Given the description of an element on the screen output the (x, y) to click on. 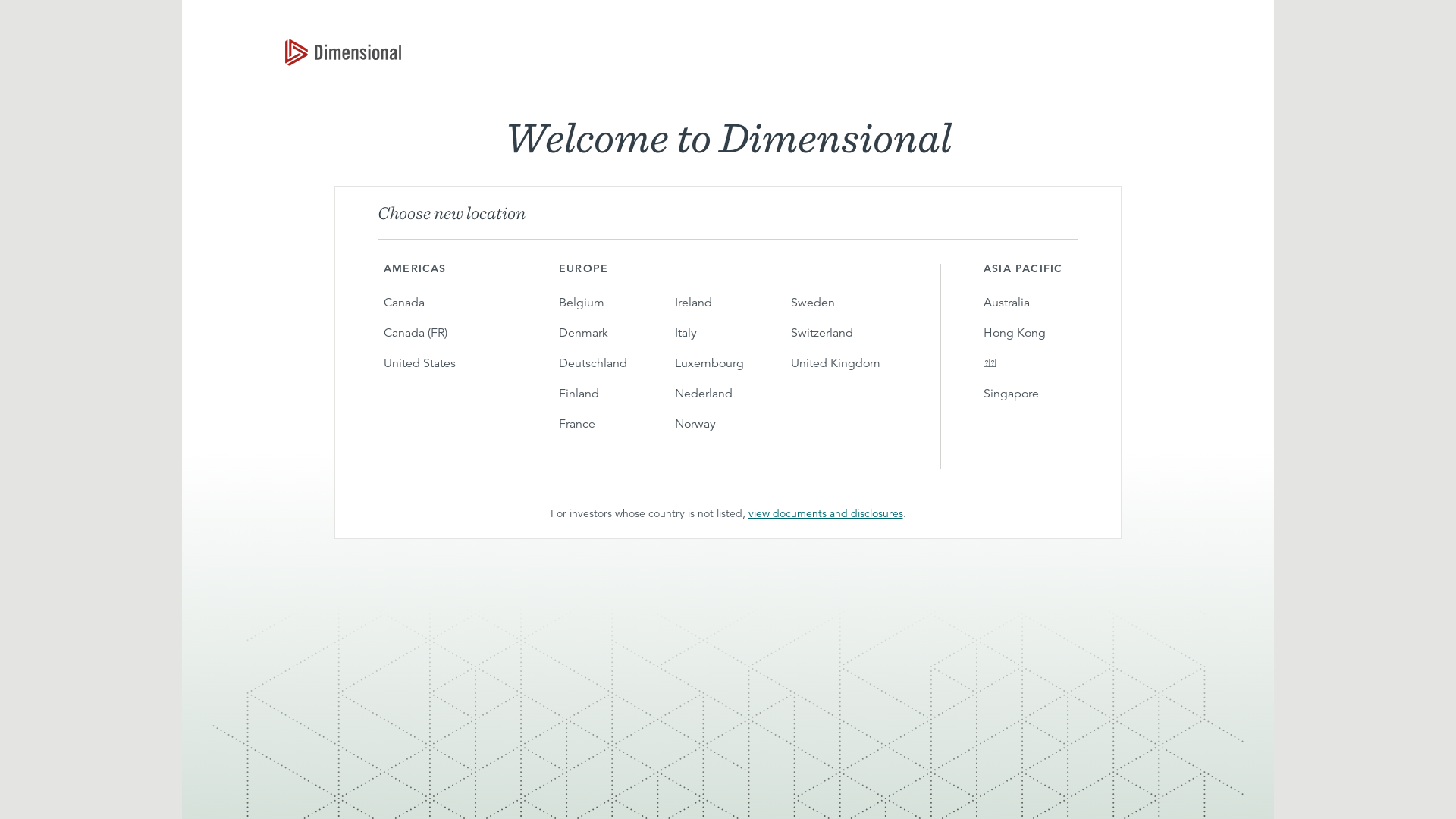
Australia Element type: text (1027, 302)
Switzerland Element type: text (843, 332)
Belgium Element type: text (601, 302)
Hong Kong Element type: text (1027, 332)
United States Element type: text (428, 363)
Deutschland Element type: text (601, 363)
United Kingdom Element type: text (843, 363)
Canada Element type: text (428, 302)
view documents and disclosures Element type: text (824, 513)
Norway Element type: text (717, 423)
Ireland Element type: text (717, 302)
Nederland Element type: text (717, 393)
Finland Element type: text (601, 393)
Canada (FR) Element type: text (428, 332)
Luxembourg Element type: text (717, 363)
Sweden Element type: text (843, 302)
Denmark Element type: text (601, 332)
Singapore Element type: text (1027, 393)
Italy Element type: text (717, 332)
France Element type: text (601, 423)
